Given the description of an element on the screen output the (x, y) to click on. 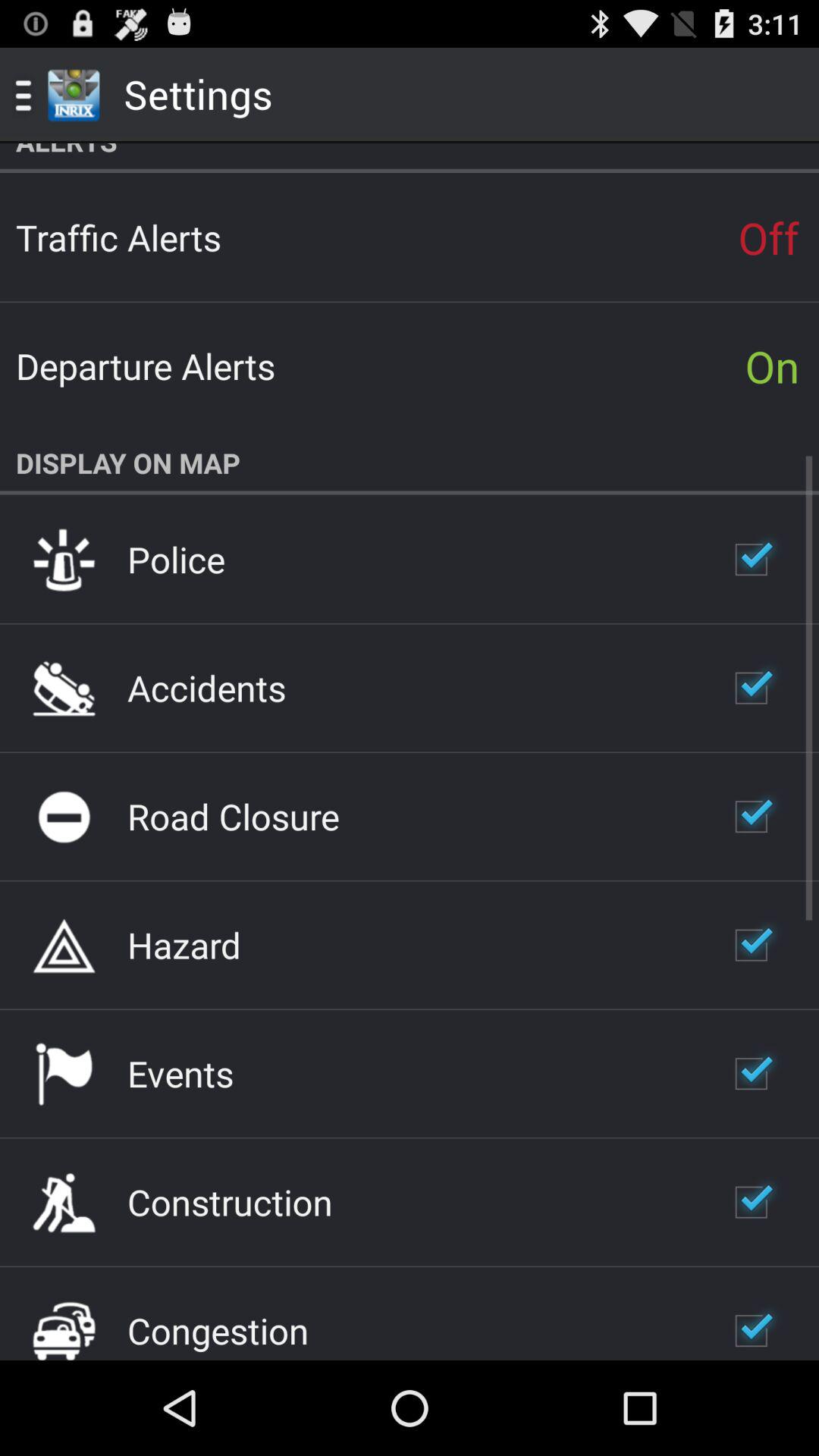
open the police icon (176, 559)
